Given the description of an element on the screen output the (x, y) to click on. 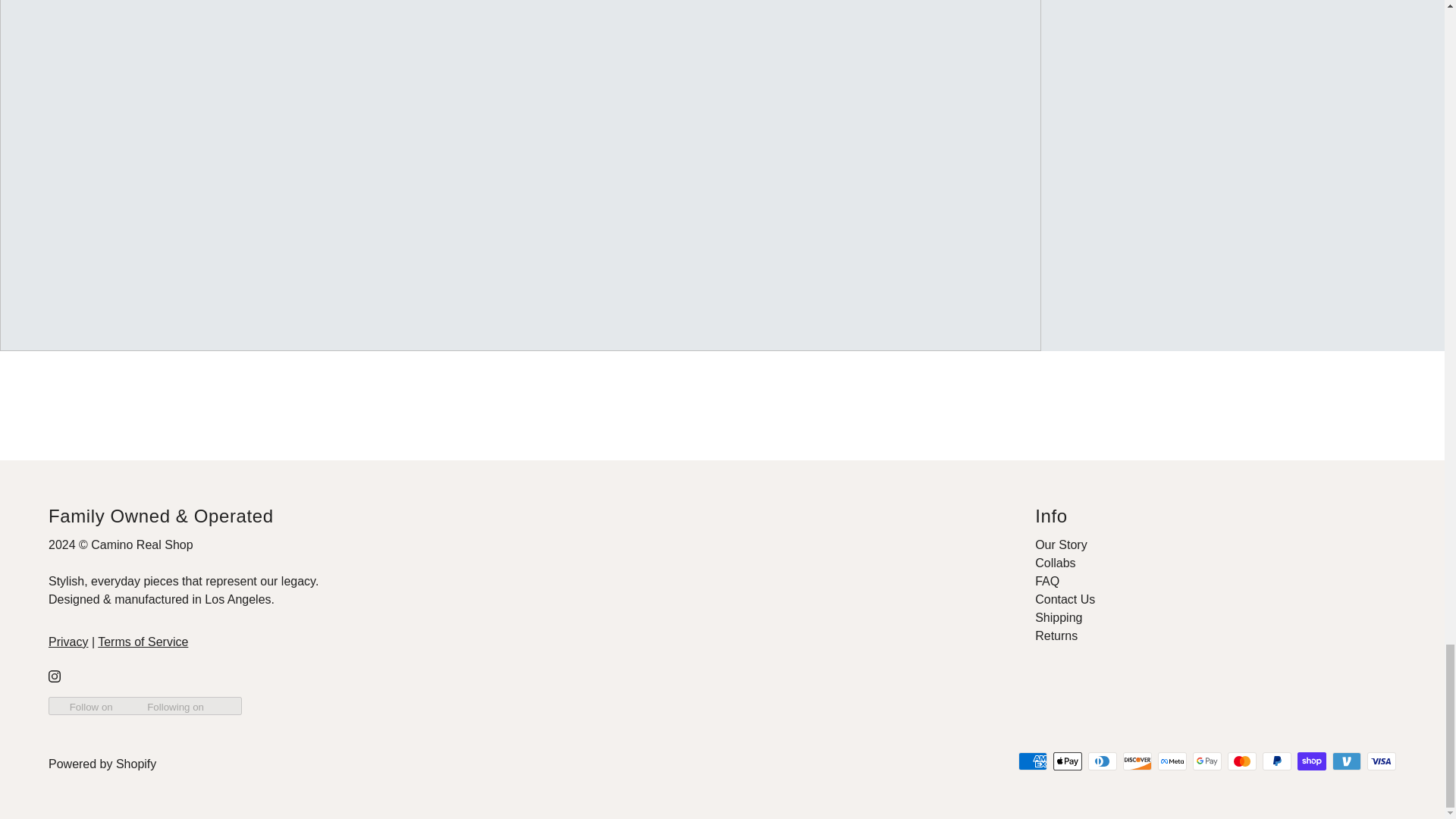
Shipping (1058, 617)
Contact Us (1064, 599)
Terms of Service (142, 641)
Collabs (1055, 562)
Our Story (1060, 544)
FAQ (1047, 581)
Our Story (1060, 544)
FAQ (1047, 581)
Shipping (1058, 617)
Privacy Policy (67, 641)
Privacy (67, 641)
Terms of Service (142, 641)
Collabs (1055, 562)
Returns (1056, 635)
Contact Us (1064, 599)
